Given the description of an element on the screen output the (x, y) to click on. 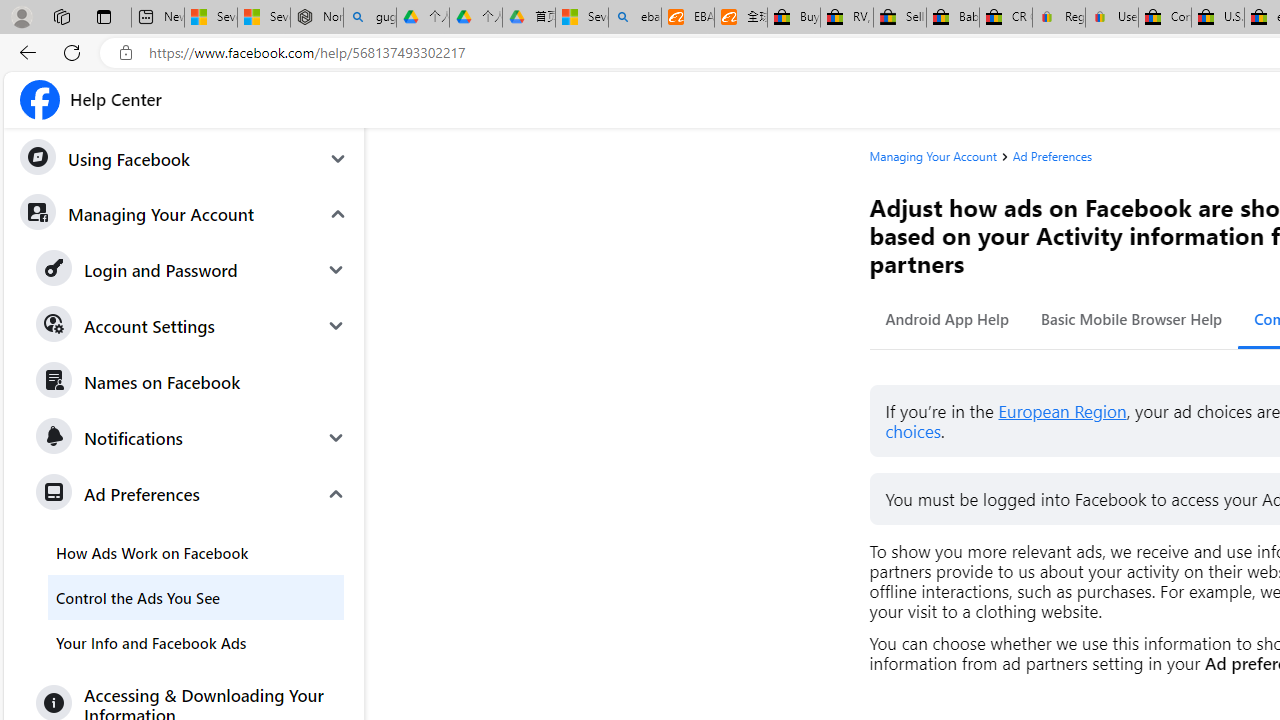
guge yunpan - Search (369, 17)
Names on Facebook (191, 381)
Login and Password Expand (191, 269)
European Region (1062, 411)
Your Info and Facebook Ads (196, 642)
